Given the description of an element on the screen output the (x, y) to click on. 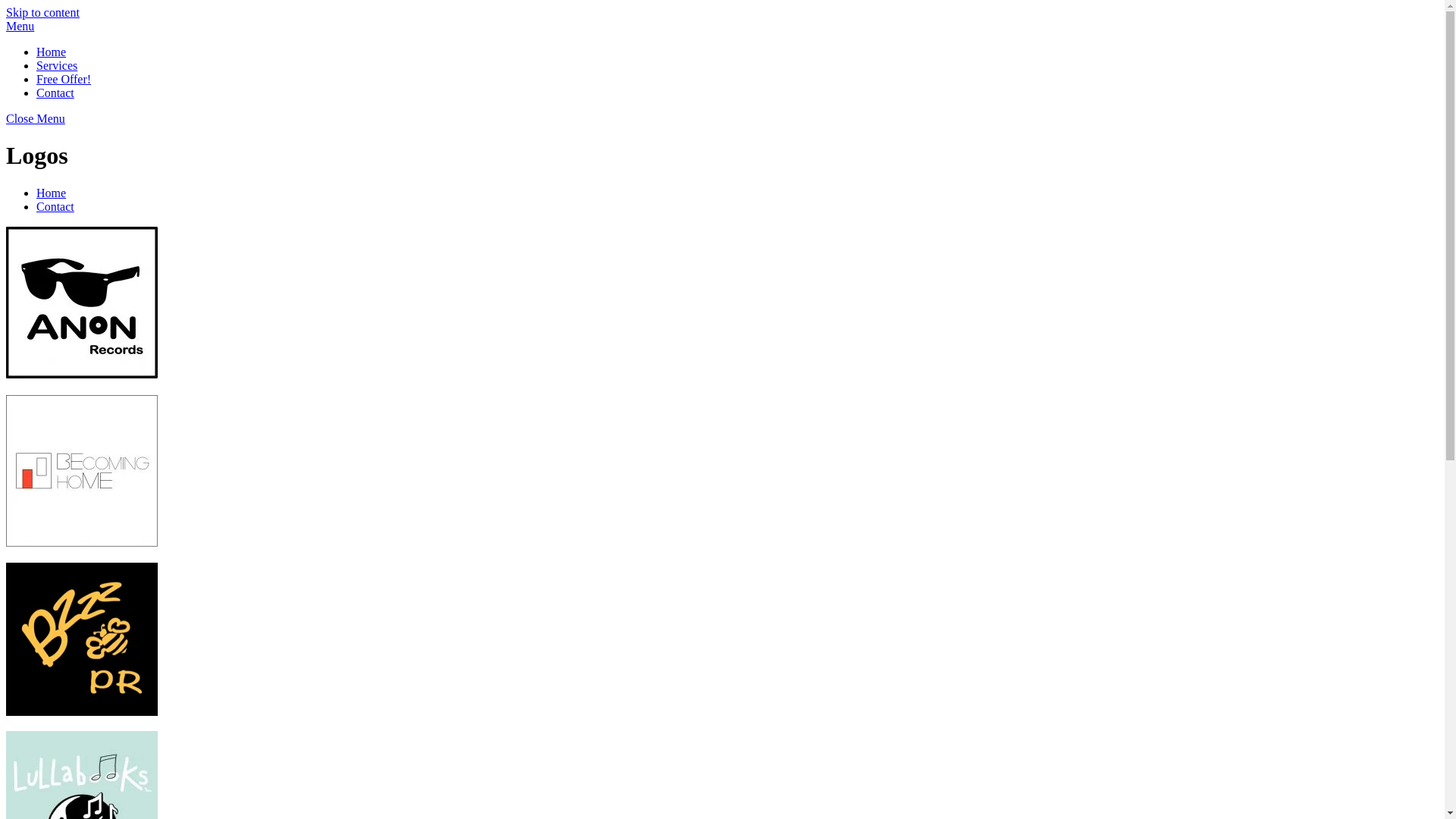
Menu Element type: text (20, 25)
Home Element type: text (50, 192)
Free Offer! Element type: text (63, 78)
Close Menu Element type: text (35, 118)
ANON-logo-no-shh Element type: hover (81, 302)
Contact Element type: text (55, 206)
Contact Element type: text (55, 92)
BzzzPR tm Element type: hover (81, 638)
Skip to content Element type: text (42, 12)
Services Element type: text (56, 65)
BH-logo Element type: hover (81, 470)
Home Element type: text (50, 51)
